Given the description of an element on the screen output the (x, y) to click on. 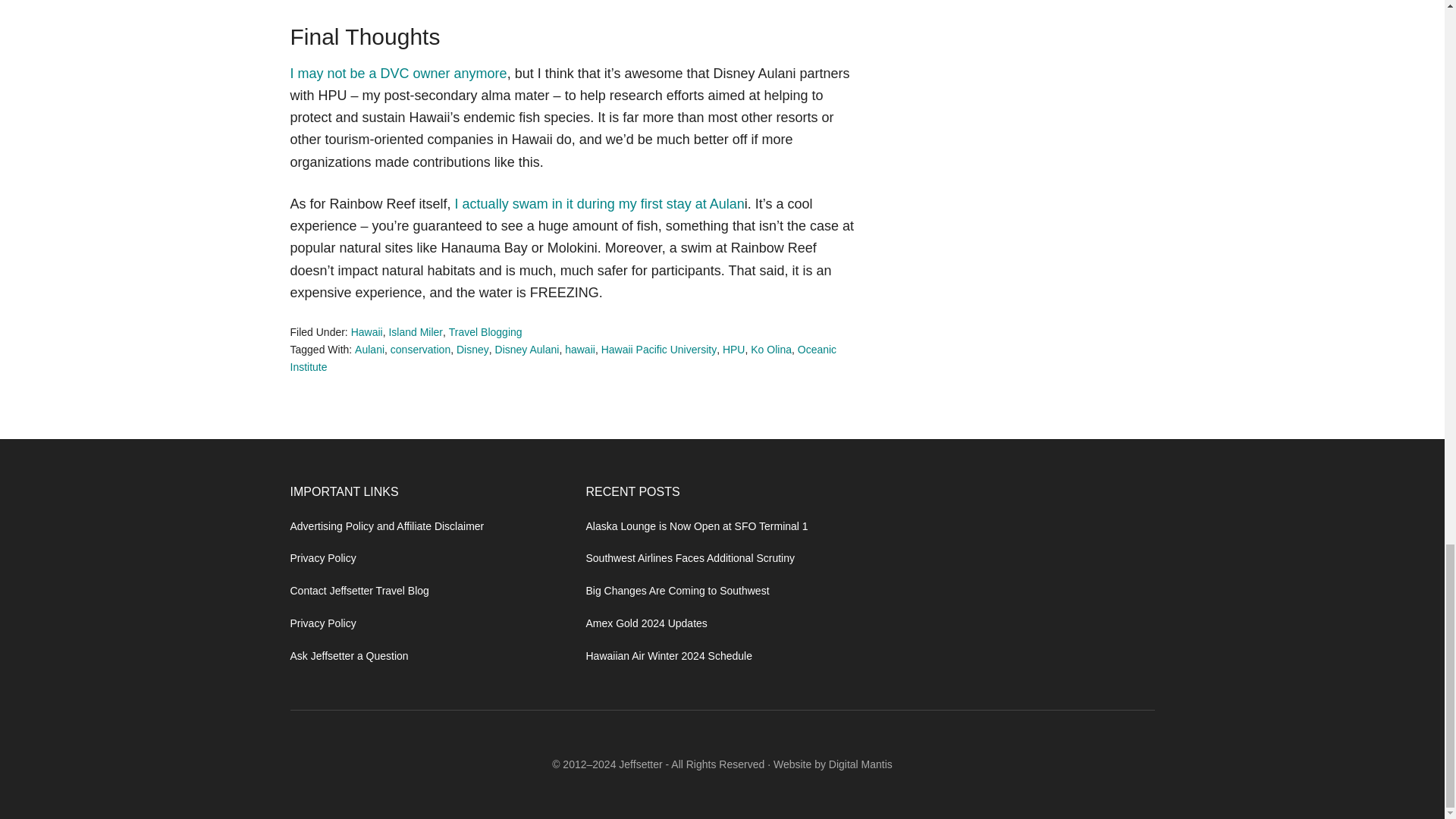
I actually swam in it during my first stay at Aulan (599, 203)
Aulani (369, 349)
Travel Blogging (485, 331)
I may not be a DVC owner anymore (397, 73)
Hawaii (366, 331)
Island Miler (415, 331)
